Given the description of an element on the screen output the (x, y) to click on. 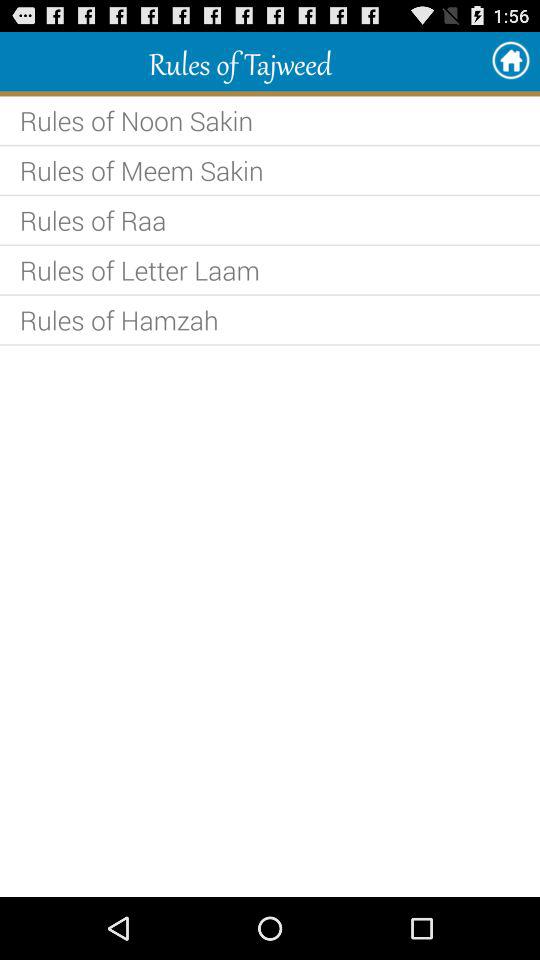
select the app next to rules of tajweed app (510, 60)
